Given the description of an element on the screen output the (x, y) to click on. 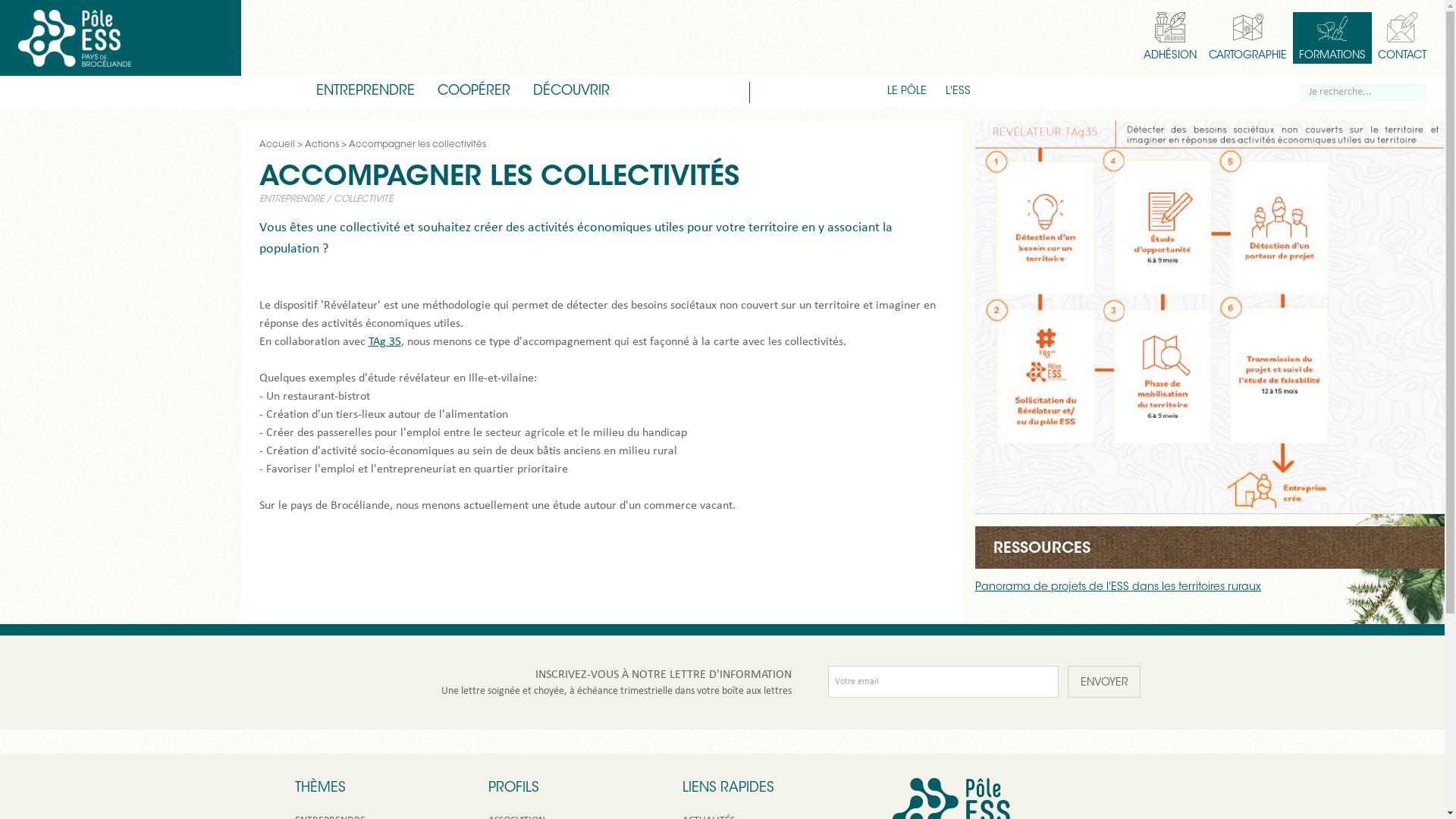
Actions Element type: text (321, 144)
CONTACT Element type: text (1398, 37)
ENTREPRENDRE Element type: text (291, 198)
Accueil Element type: text (276, 144)
Envoyer Element type: text (1103, 681)
CARTOGRAPHIE Element type: text (1247, 37)
TAg 35 Element type: text (384, 341)
ENTREPRENDRE Element type: text (365, 91)
L'ESS Element type: text (957, 92)
Page d'accueil Element type: hover (74, 37)
Panorama de projets de l'ESS dans les territoires ruraux Element type: text (1118, 587)
FORMATIONS Element type: text (1331, 37)
